Given the description of an element on the screen output the (x, y) to click on. 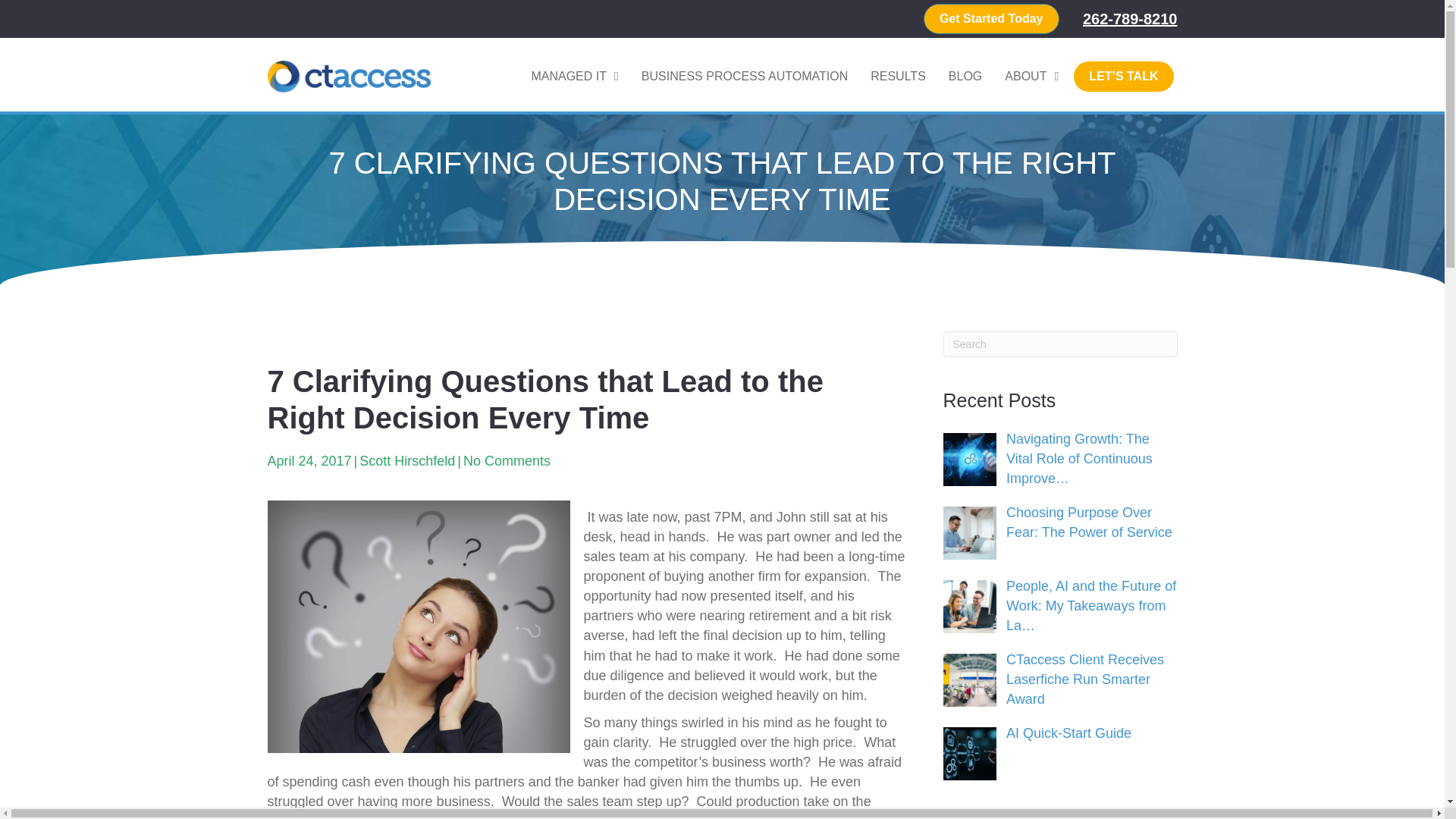
262-789-8210 (1130, 18)
AI Quick-Start Guide (1068, 733)
Get Started Today (991, 19)
Logo (347, 76)
Type and press Enter to search. (1060, 344)
BUSINESS PROCESS AUTOMATION (744, 76)
Scott Hirschfeld (406, 460)
RESULTS (898, 76)
ABOUT (1031, 76)
No Comments (506, 460)
MANAGED IT (574, 76)
Choosing Purpose Over Fear: The Power of Service (1089, 522)
262-789-8210 (1130, 18)
CTaccess Client Receives Laserfiche Run Smarter Award (1084, 678)
BLOG (965, 76)
